Given the description of an element on the screen output the (x, y) to click on. 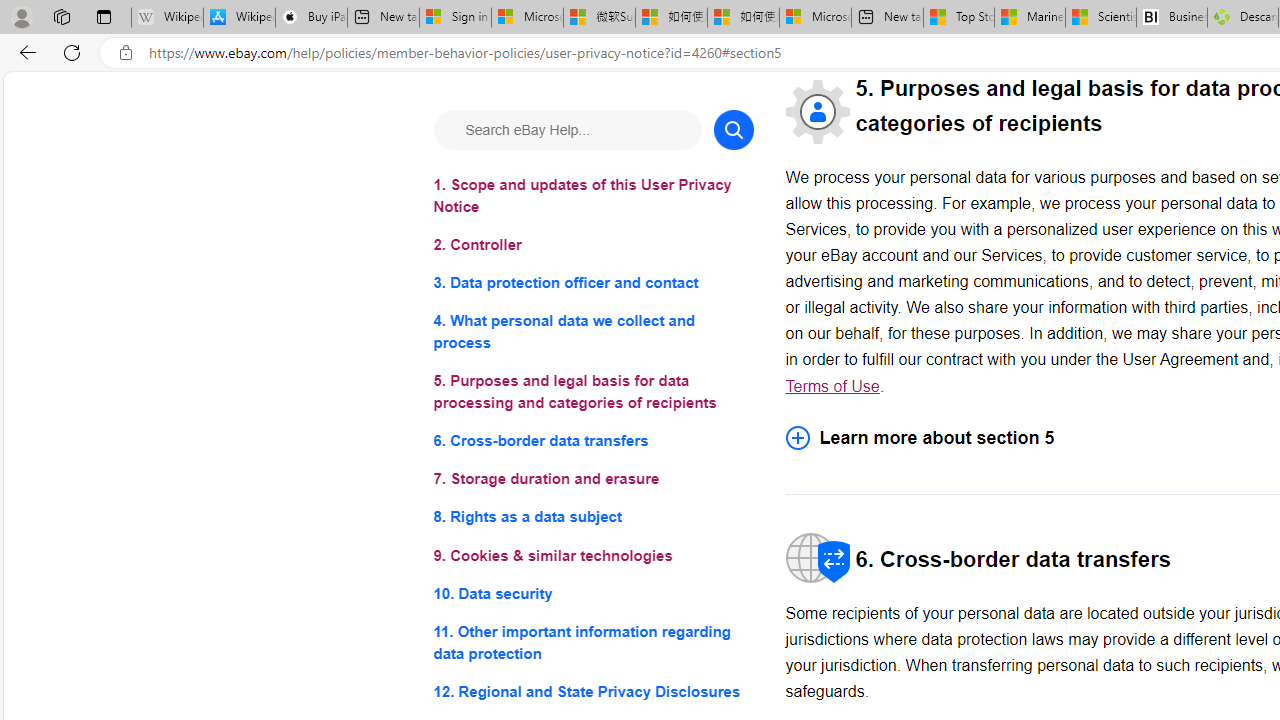
8. Rights as a data subject (592, 517)
3. Data protection officer and contact (592, 283)
1. Scope and updates of this User Privacy Notice (592, 196)
8. Rights as a data subject (592, 517)
4. What personal data we collect and process (592, 332)
6. Cross-border data transfers (592, 440)
